Given the description of an element on the screen output the (x, y) to click on. 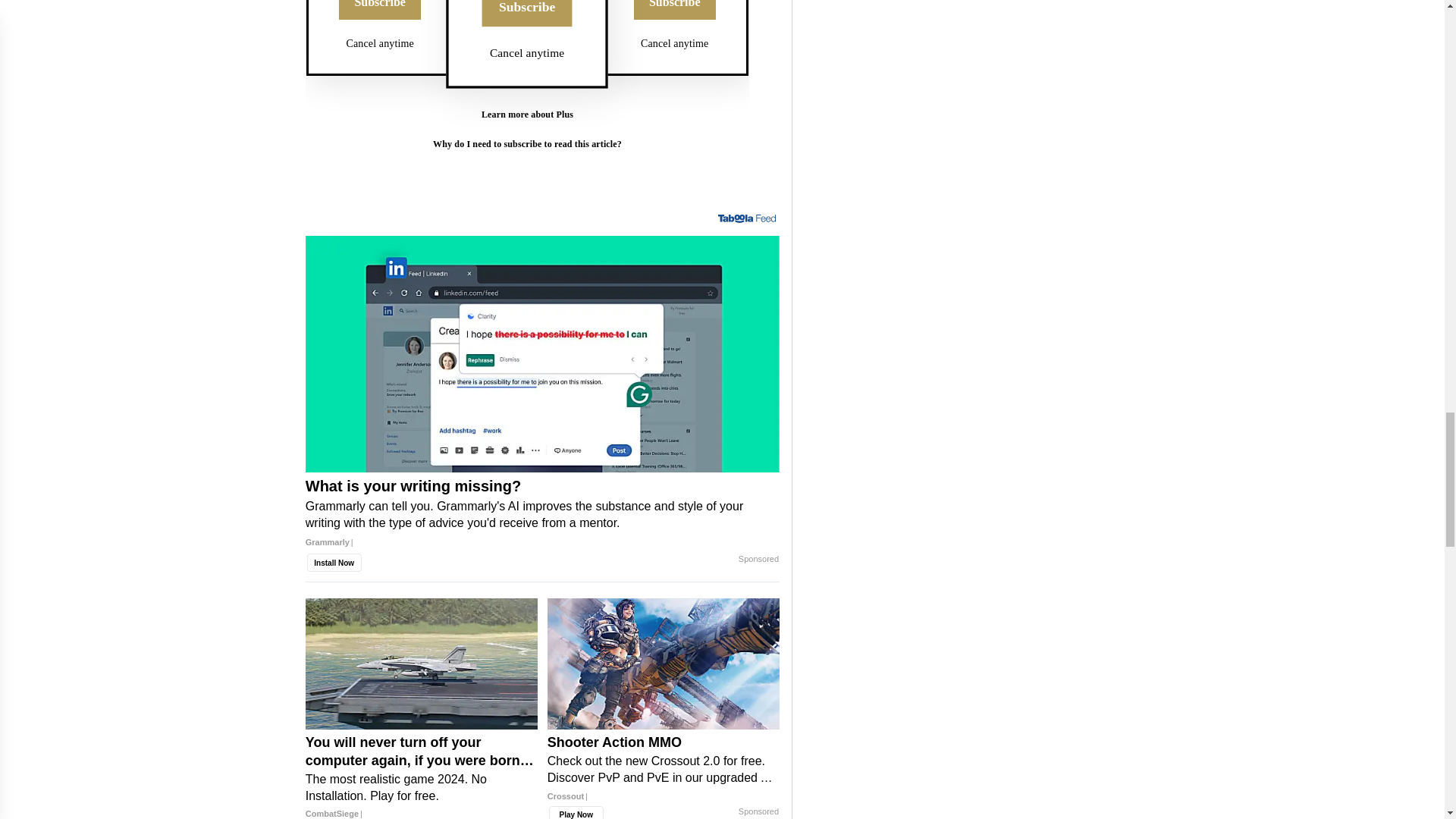
offer-0-t1n1q (526, 97)
Shooter Action MMO (662, 663)
What is your writing missing? (541, 519)
What is your writing missing? (541, 354)
Shooter Action MMO (662, 774)
